Given the description of an element on the screen output the (x, y) to click on. 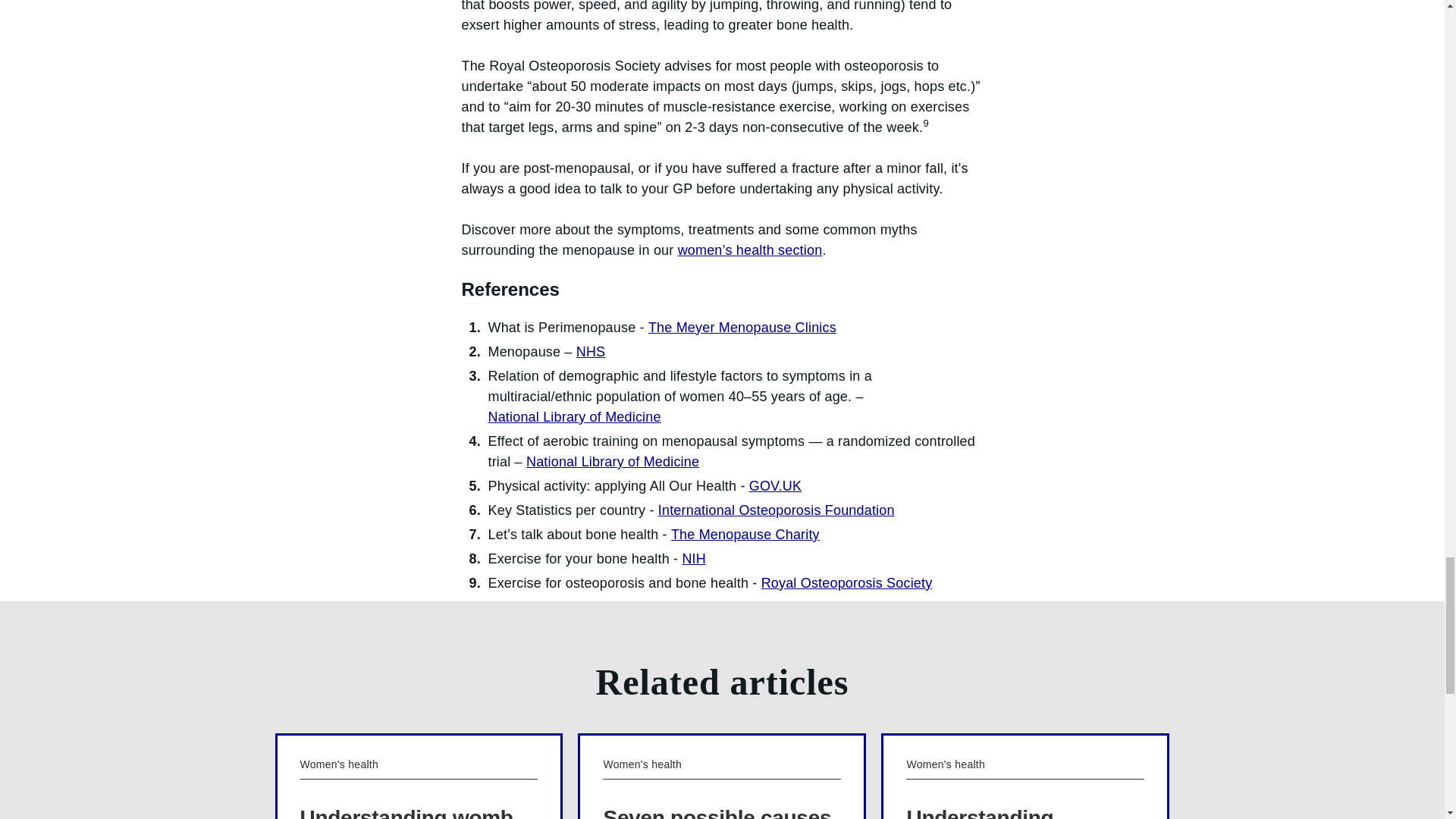
International Osteoporosis Foundation (776, 510)
Bone Health (693, 558)
NHS menopause (590, 352)
NHS (590, 352)
National Library of Medicine (611, 462)
GOV.UK (775, 485)
The Menopause Charity (745, 534)
Menopause Charity (745, 534)
National Library of Medicine (574, 417)
Royal Osteoporosis Society (847, 583)
